Given the description of an element on the screen output the (x, y) to click on. 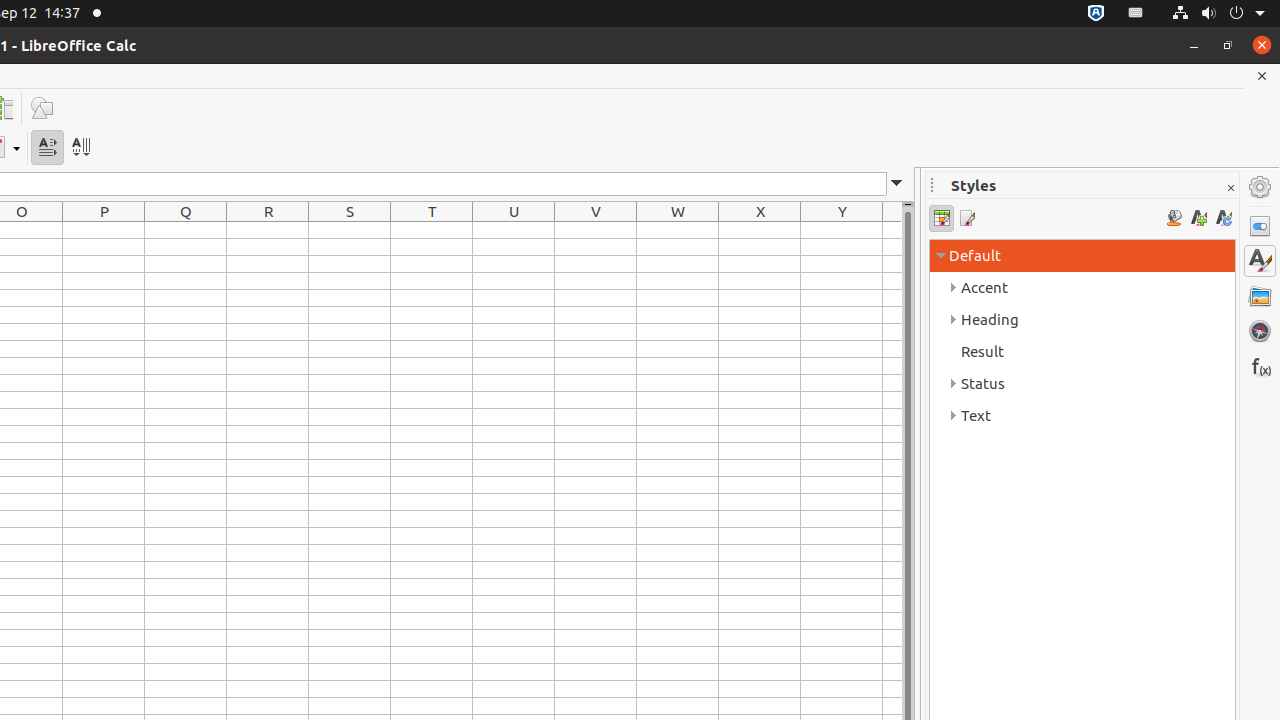
Page Styles Element type: push-button (966, 218)
Z1 Element type: table-cell (892, 230)
T1 Element type: table-cell (432, 230)
Update Style Element type: push-button (1223, 218)
Text direction from left to right Element type: toggle-button (47, 147)
